Given the description of an element on the screen output the (x, y) to click on. 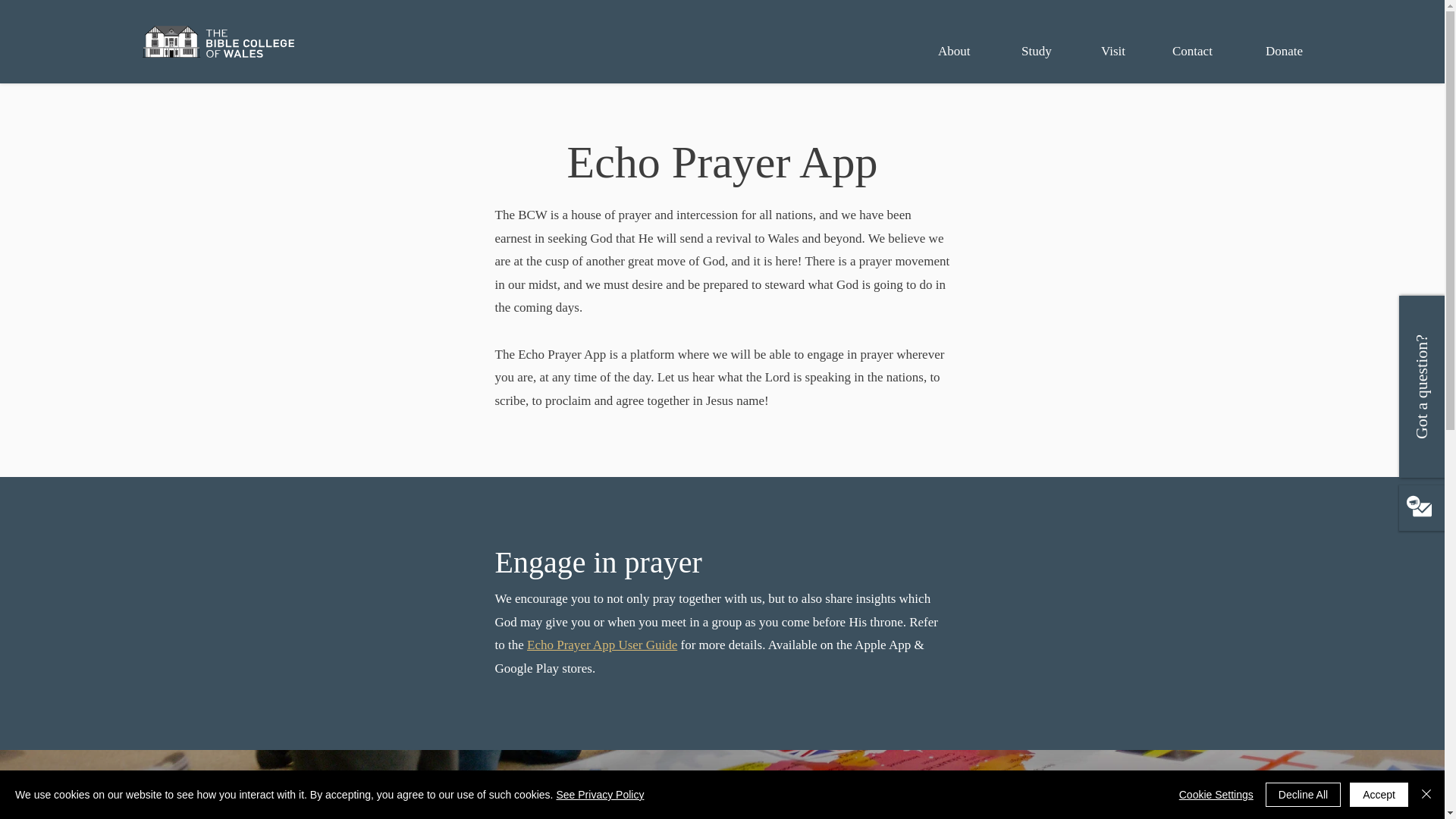
Echo Prayer App User Guide (602, 644)
Contact (1206, 50)
See Privacy Policy (599, 794)
Accept (1378, 794)
Donate (1298, 50)
